Given the description of an element on the screen output the (x, y) to click on. 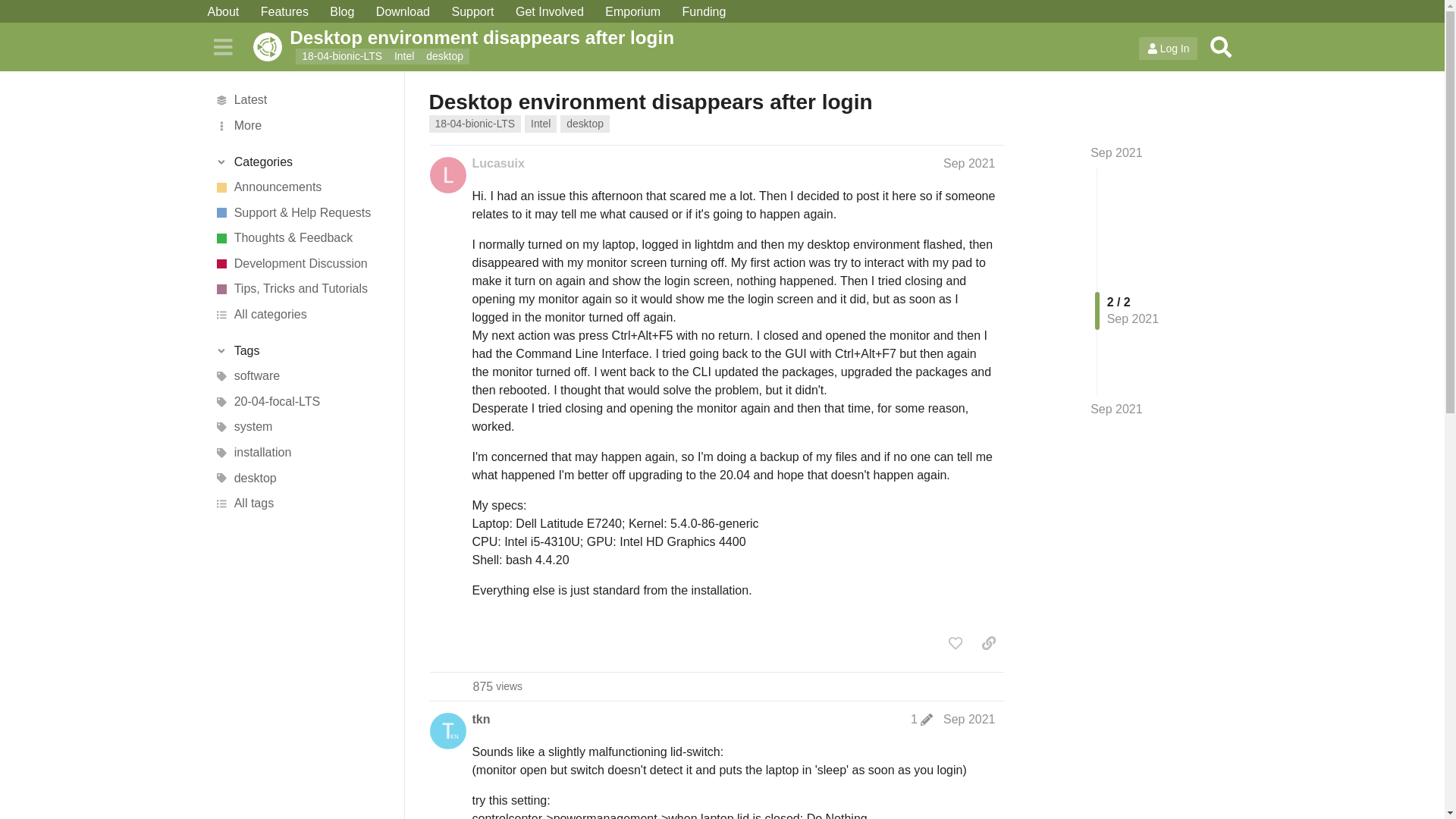
system (301, 427)
Blog (341, 11)
Post your thoughts and comments about the distribution. (301, 238)
Keyboard Shortcuts (384, 817)
Jump to the first post (1116, 152)
Desktop environment disappears after login (650, 101)
Announcements (301, 186)
Tips, Tricks and Tutorials (301, 289)
desktop (585, 123)
Desktop environment disappears after login (702, 37)
